Given the description of an element on the screen output the (x, y) to click on. 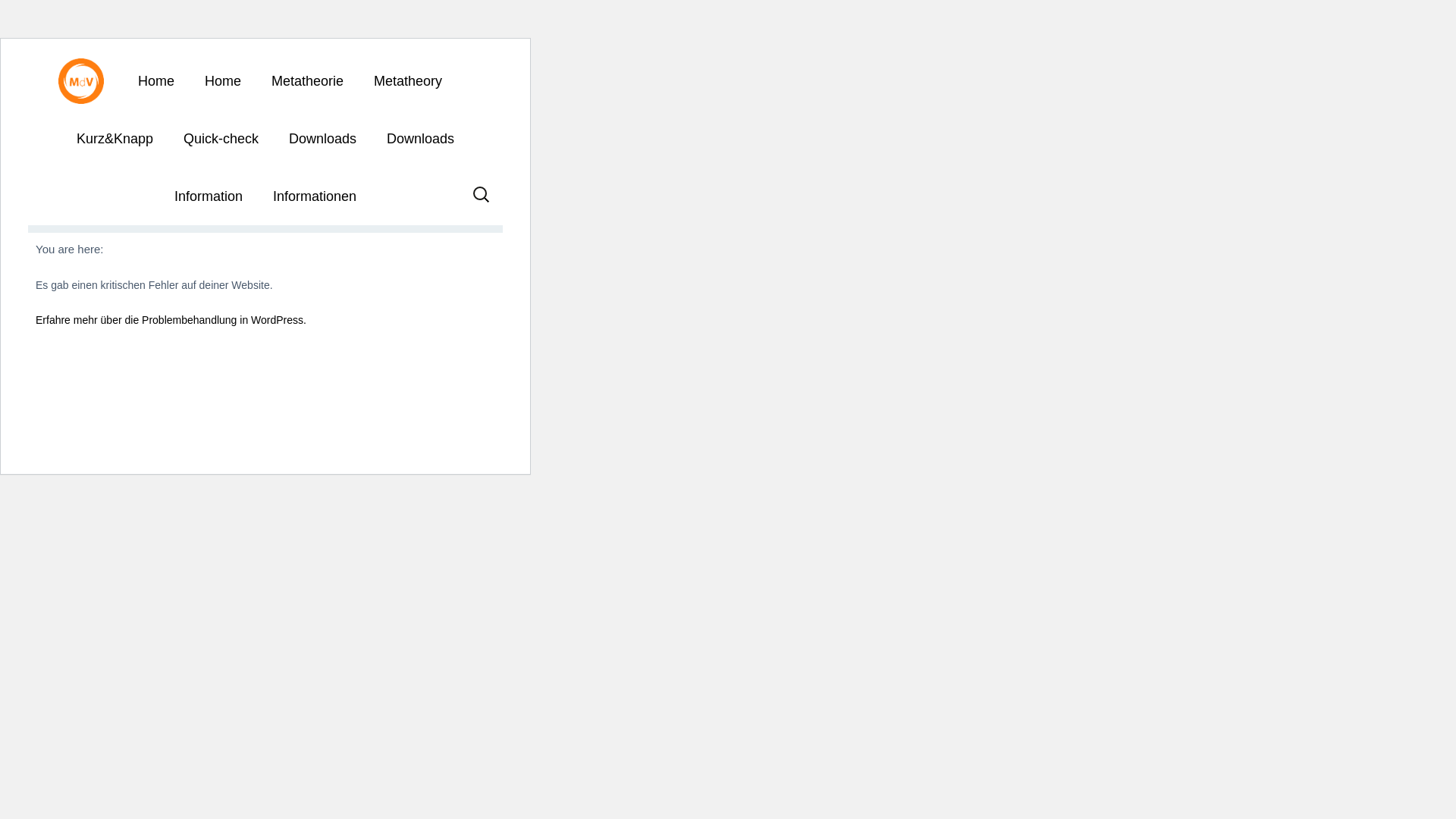
Home (155, 80)
Home (222, 80)
Informationen (314, 196)
Downloads (419, 138)
Information (207, 196)
Metatheorie (307, 80)
Quick-check (220, 138)
Search for: (481, 199)
Downloads (322, 138)
Search (42, 18)
Metatheory (407, 80)
